Given the description of an element on the screen output the (x, y) to click on. 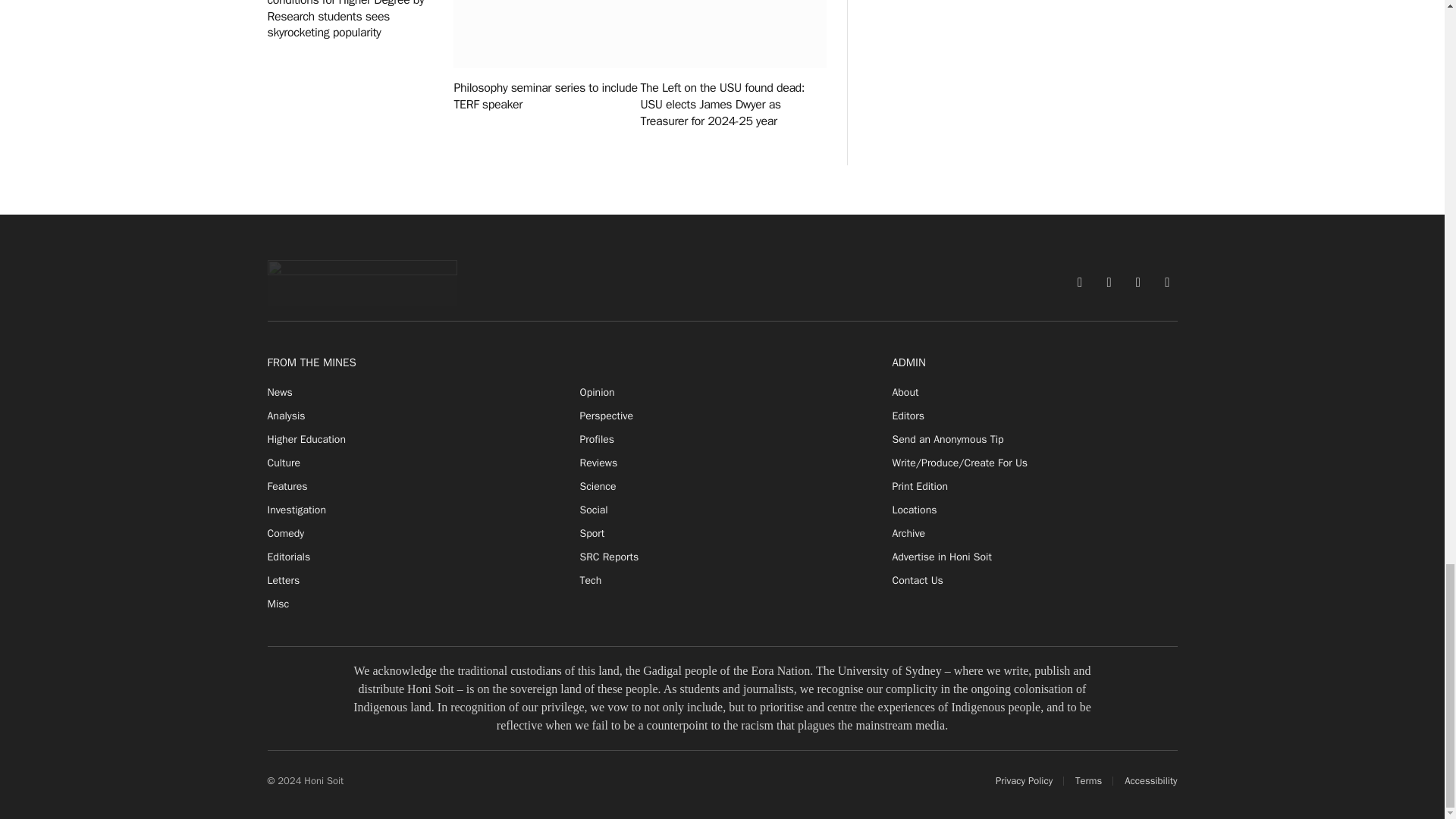
Philosophy seminar series to include TERF speaker (546, 33)
